Given the description of an element on the screen output the (x, y) to click on. 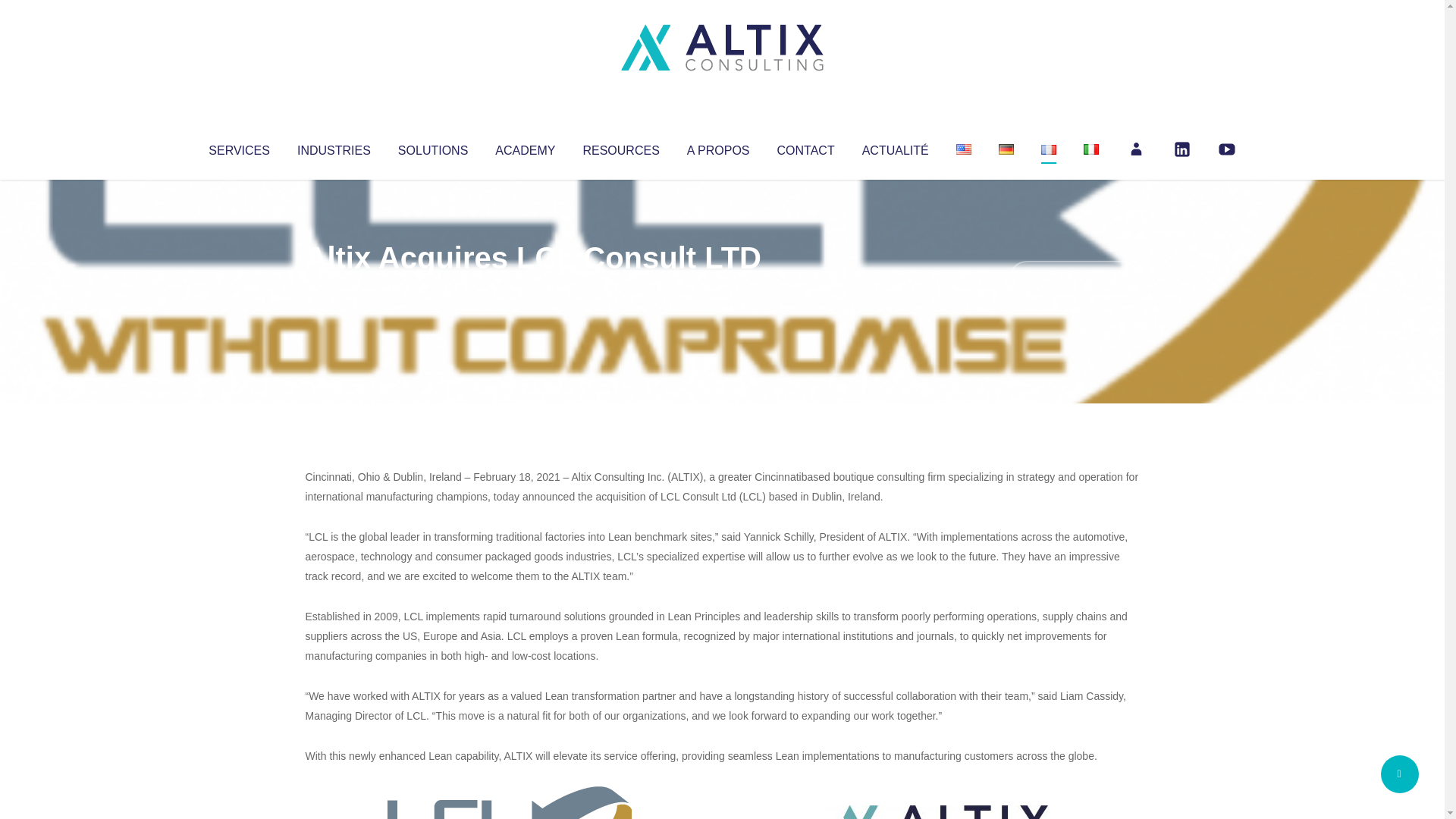
SERVICES (238, 146)
A PROPOS (718, 146)
RESOURCES (620, 146)
Articles par Altix (333, 287)
INDUSTRIES (334, 146)
SOLUTIONS (432, 146)
ACADEMY (524, 146)
Uncategorized (530, 287)
No Comments (1073, 278)
Altix (333, 287)
